Given the description of an element on the screen output the (x, y) to click on. 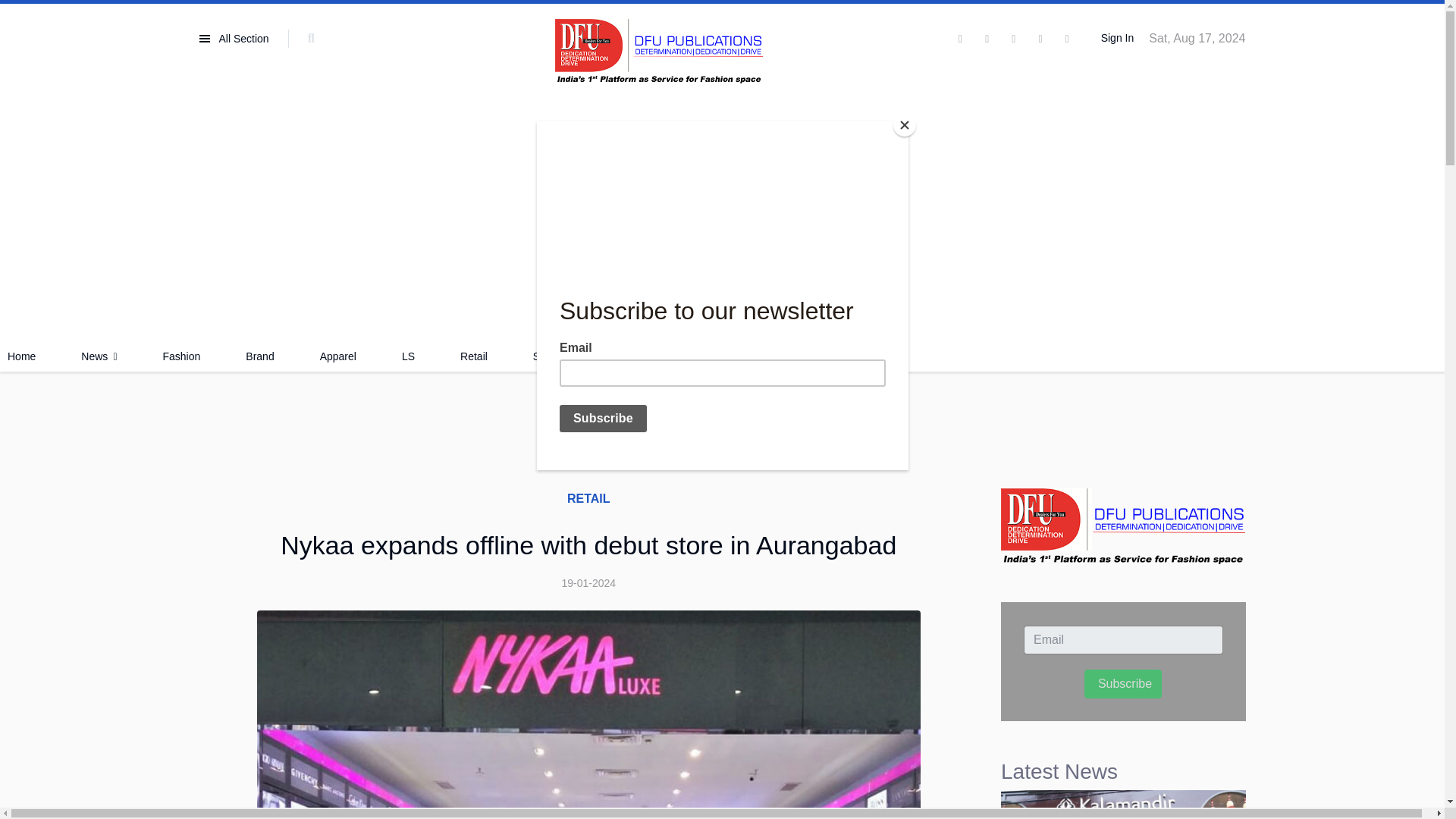
Published: 19 January 2024 (587, 582)
Category: Retail (588, 498)
Sign In (1115, 38)
